Given the description of an element on the screen output the (x, y) to click on. 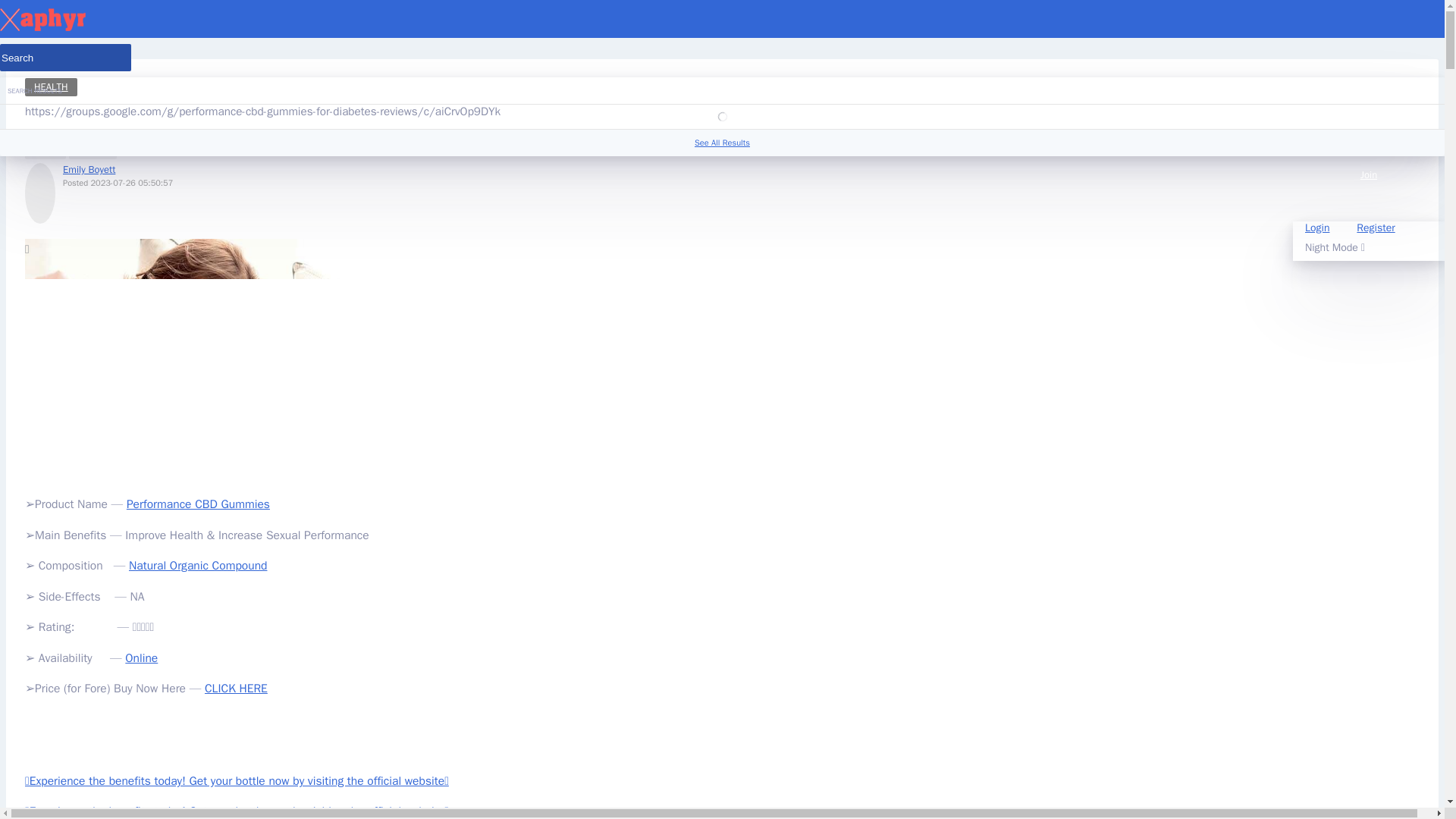
0 (44, 146)
Join (1368, 188)
Natural Organic Compound (197, 565)
Online (141, 657)
Register (1374, 227)
Performance CBD Gummies (197, 503)
CLICK HERE (236, 688)
See All Results (722, 142)
HEALTH (50, 86)
Emily Boyett (88, 169)
Login (1316, 227)
